Given the description of an element on the screen output the (x, y) to click on. 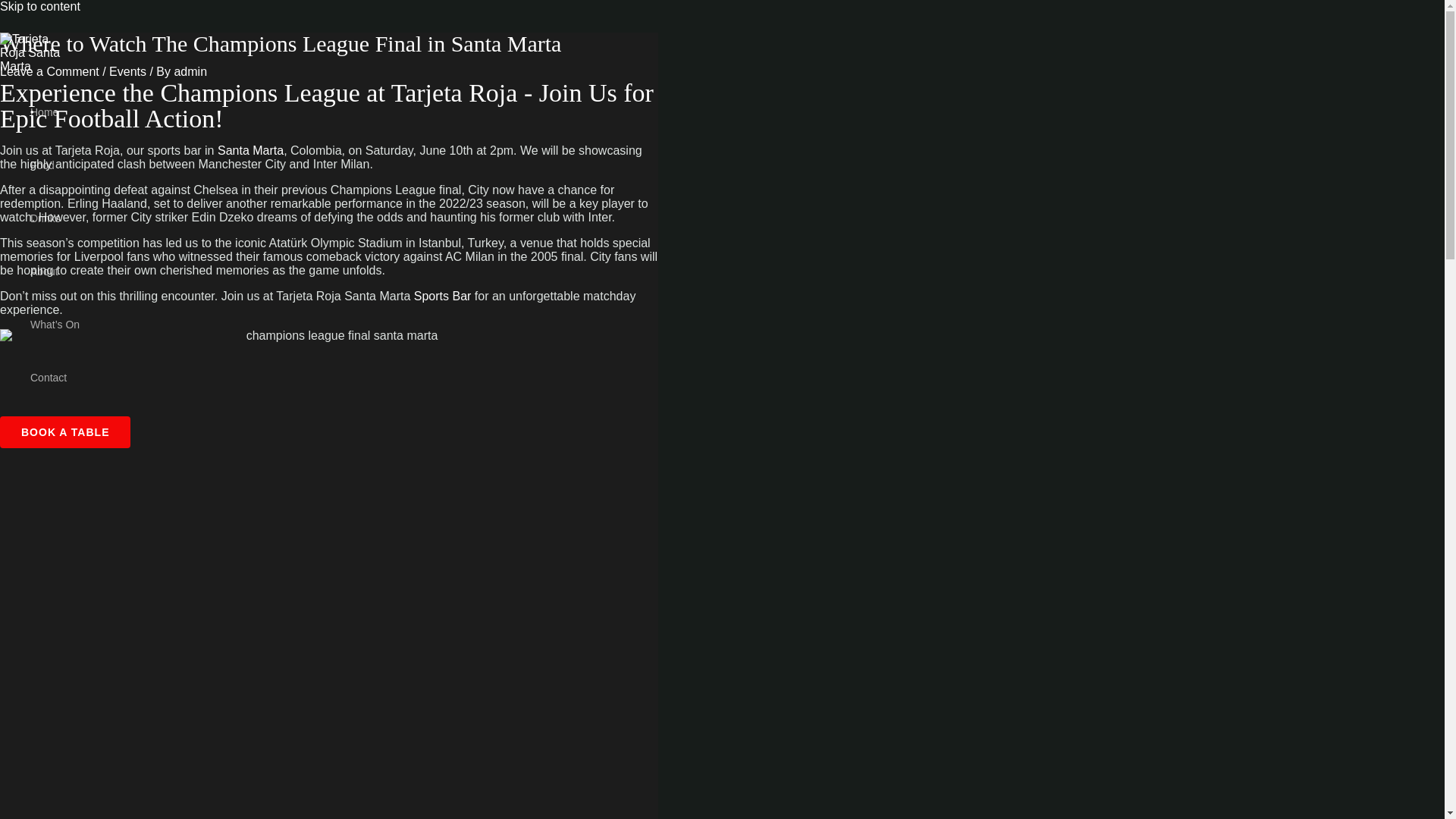
Events (128, 71)
Home (55, 111)
BOOK A TABLE (65, 431)
Santa Marta (249, 150)
Sports Bar (442, 295)
Skip to content (40, 6)
Contact (55, 377)
Skip to content (40, 6)
Food (55, 164)
admin (189, 71)
